Given the description of an element on the screen output the (x, y) to click on. 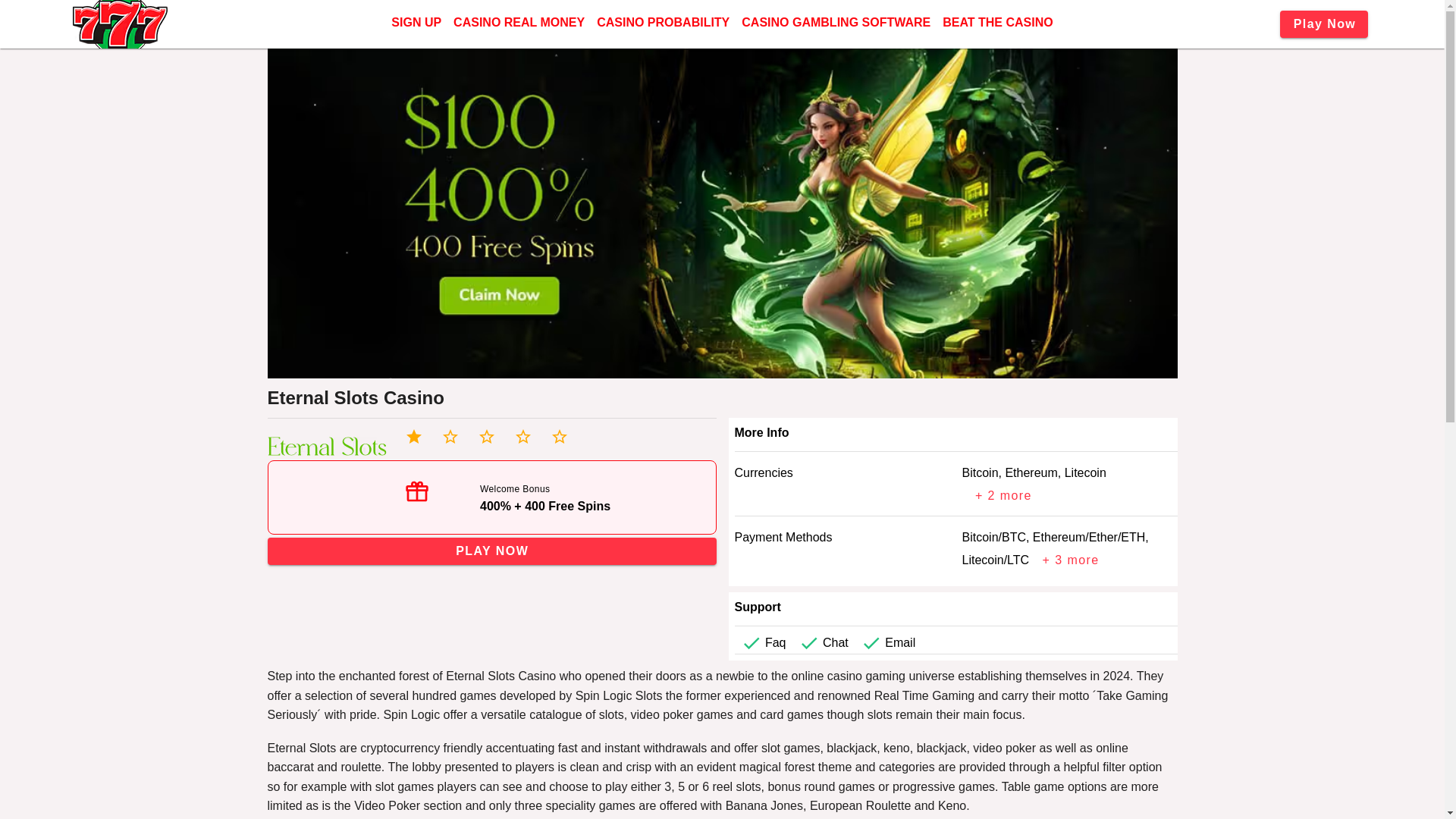
BEAT THE CASINO (997, 22)
CASINO GAMBLING SOFTWARE (835, 22)
SIGN UP (415, 22)
CASINO PROBABILITY (663, 22)
Play Now (1323, 23)
PLAY NOW (491, 551)
CASINO REAL MONEY (518, 22)
